Given the description of an element on the screen output the (x, y) to click on. 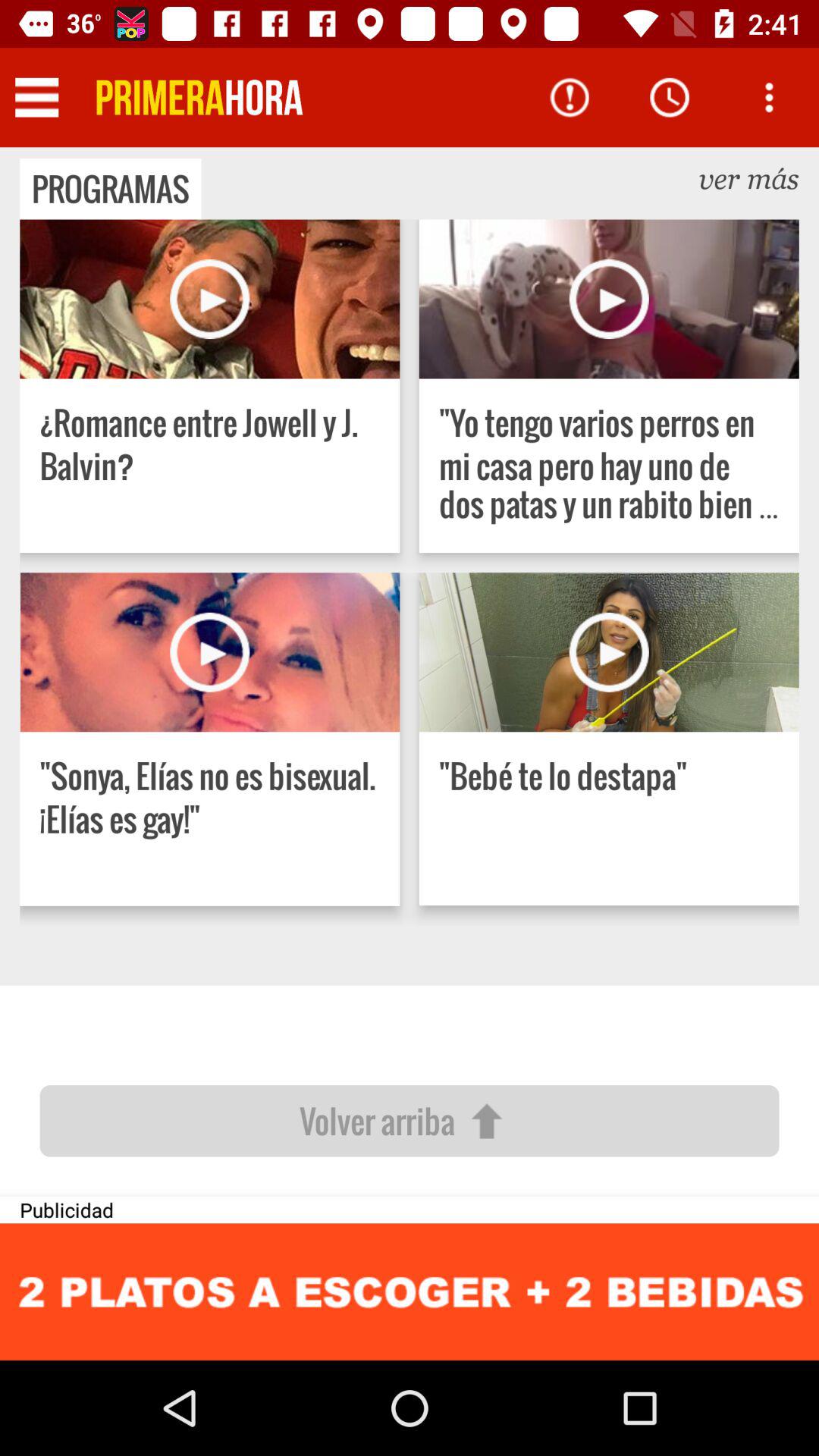
expand options (769, 97)
